Given the description of an element on the screen output the (x, y) to click on. 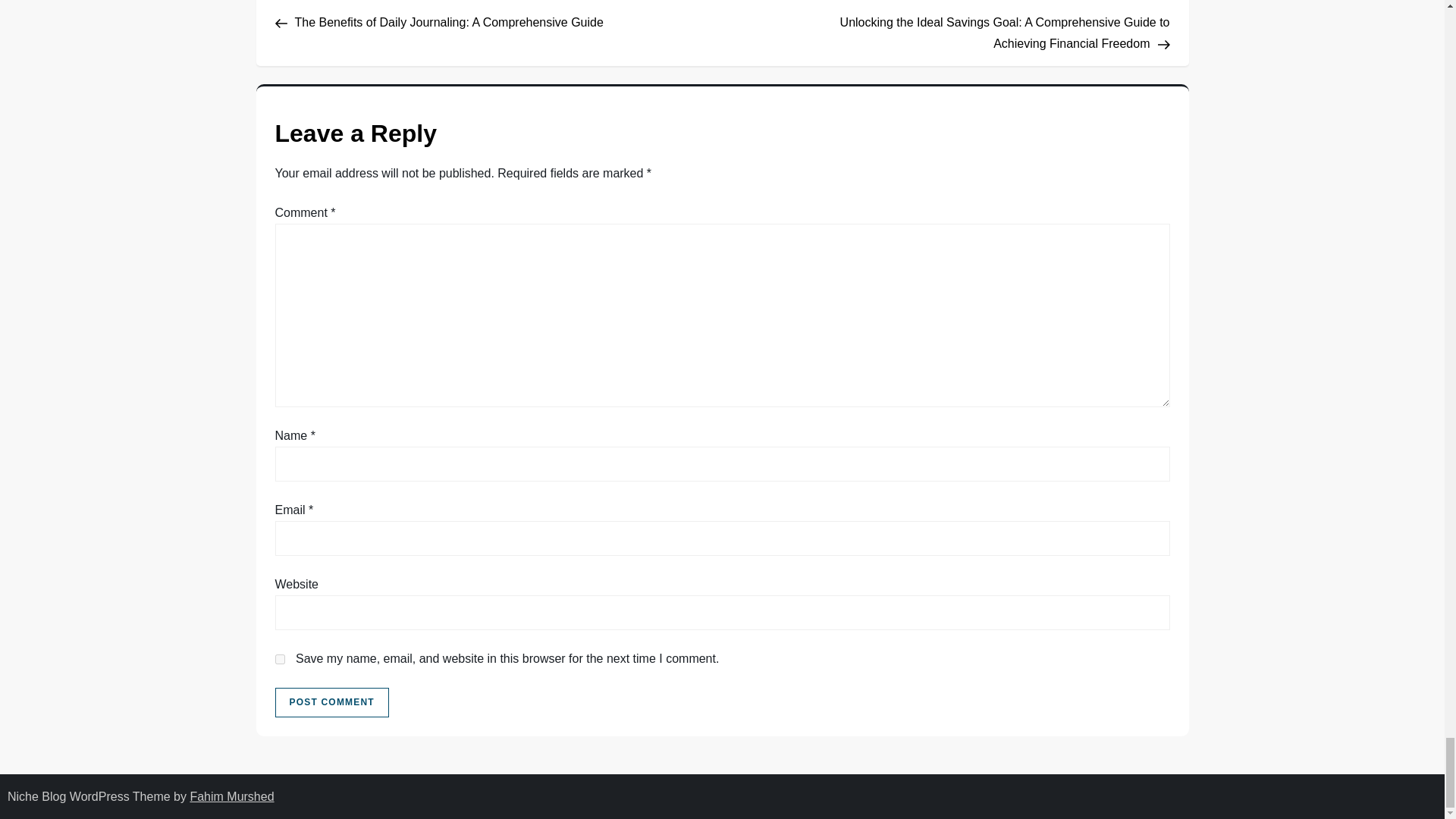
yes (279, 659)
Post Comment (331, 702)
